Given the description of an element on the screen output the (x, y) to click on. 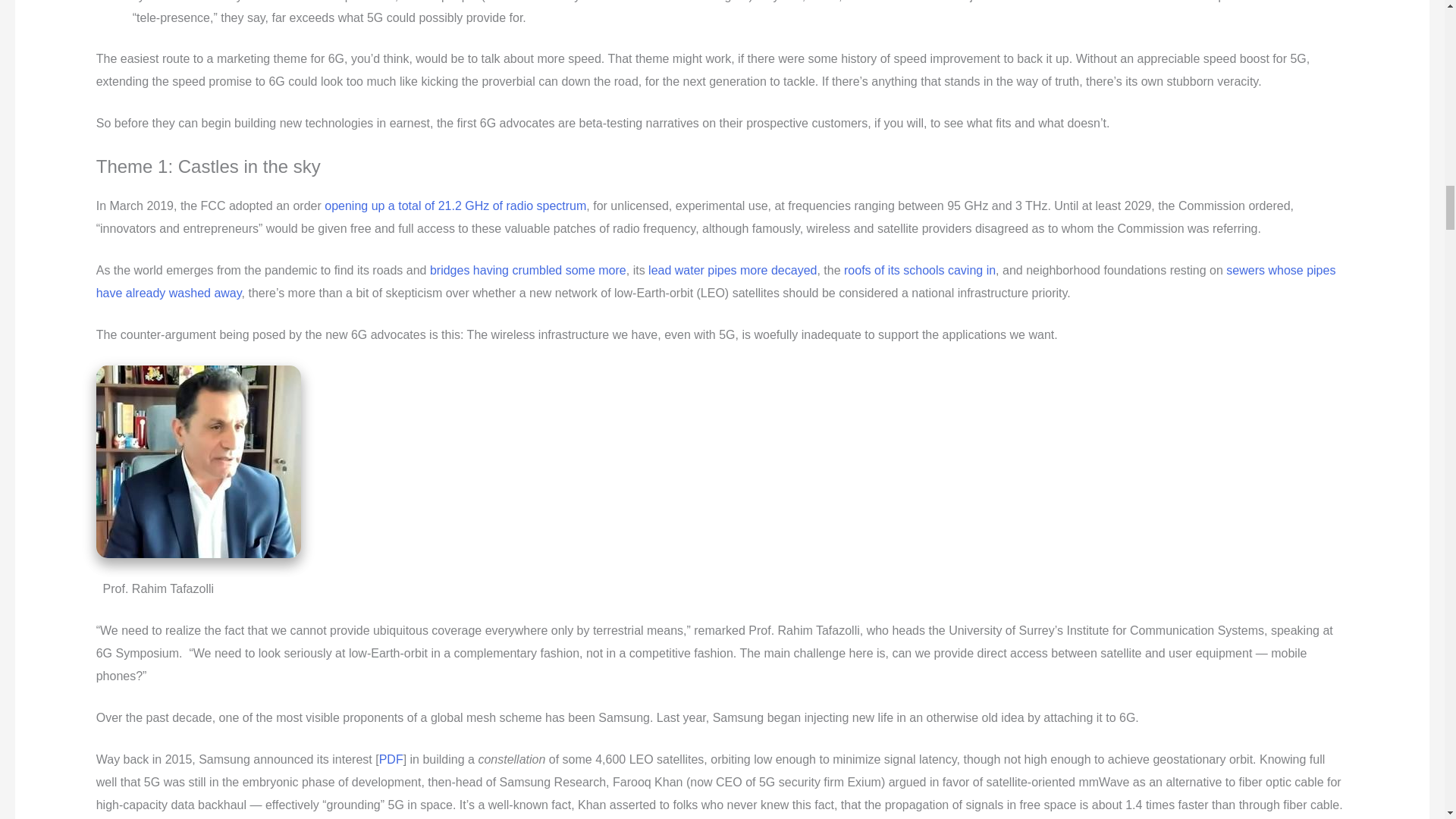
opening up a total of 21.2 GHz of radio spectrum (455, 205)
roofs of its schools caving in (919, 269)
PDF (390, 758)
lead water pipes more decayed (731, 269)
sewers whose pipes have already washed away (716, 281)
bridges having crumbled some more (527, 269)
